Given the description of an element on the screen output the (x, y) to click on. 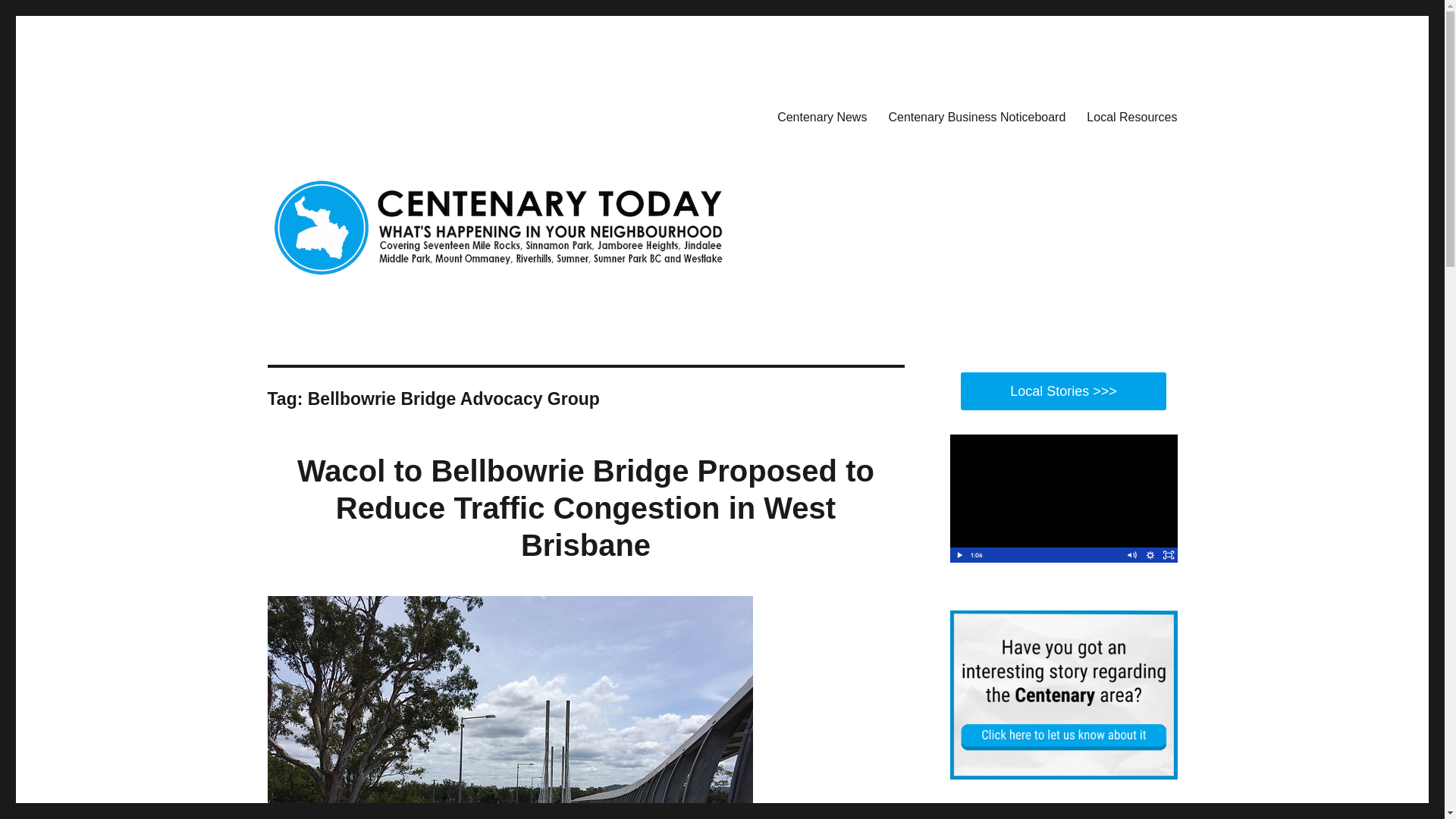
Play Video (958, 554)
Centenary News (822, 116)
Show settings menu (1149, 554)
Centenary Today (352, 114)
Mute (1131, 554)
Local Resources (1131, 116)
Fullscreen (1167, 554)
Centenary Business Noticeboard (976, 116)
